Given the description of an element on the screen output the (x, y) to click on. 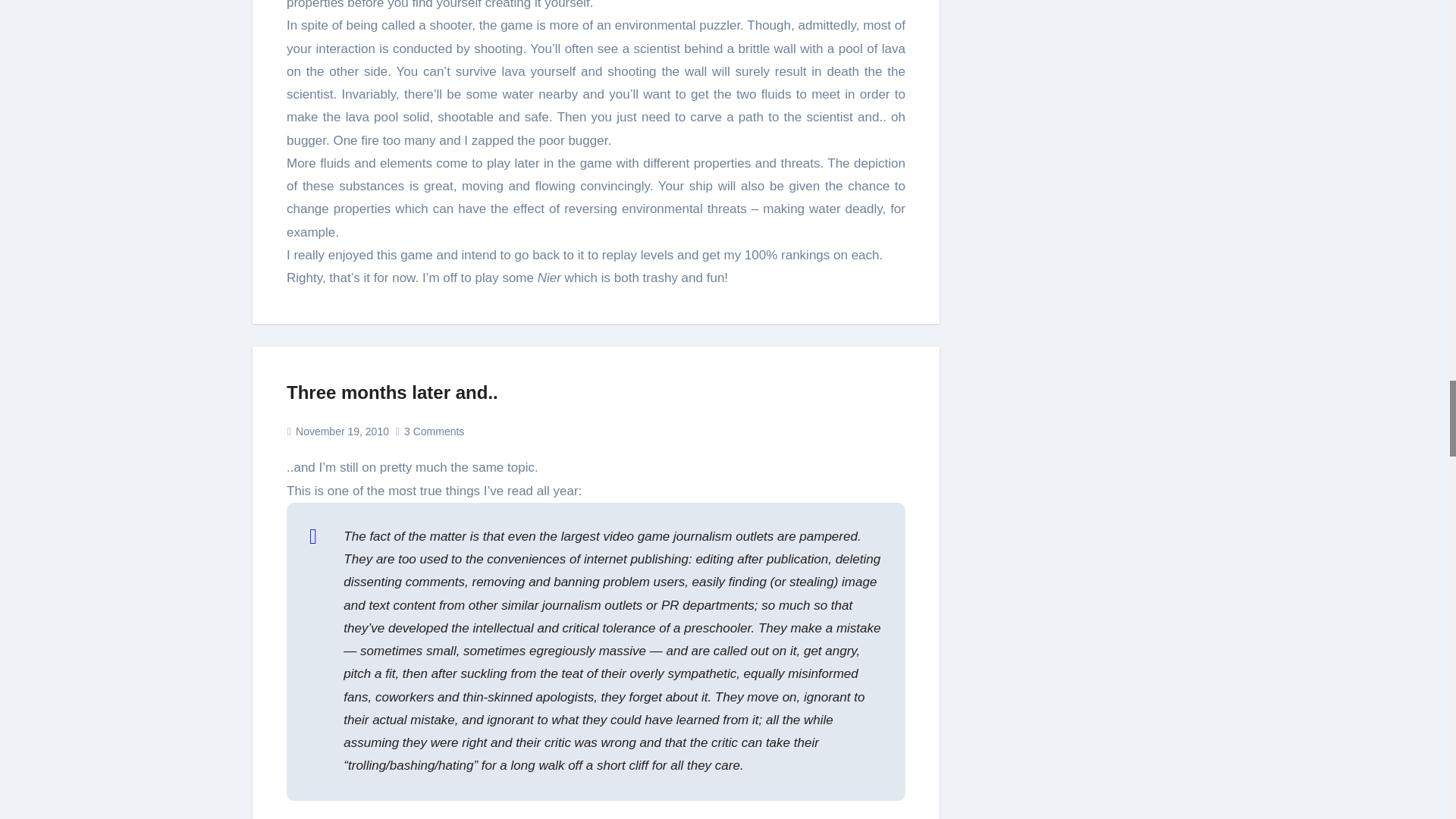
Source (306, 817)
November 19, 2010 (341, 430)
Three months later and.. (391, 392)
3 Comments (434, 430)
